Given the description of an element on the screen output the (x, y) to click on. 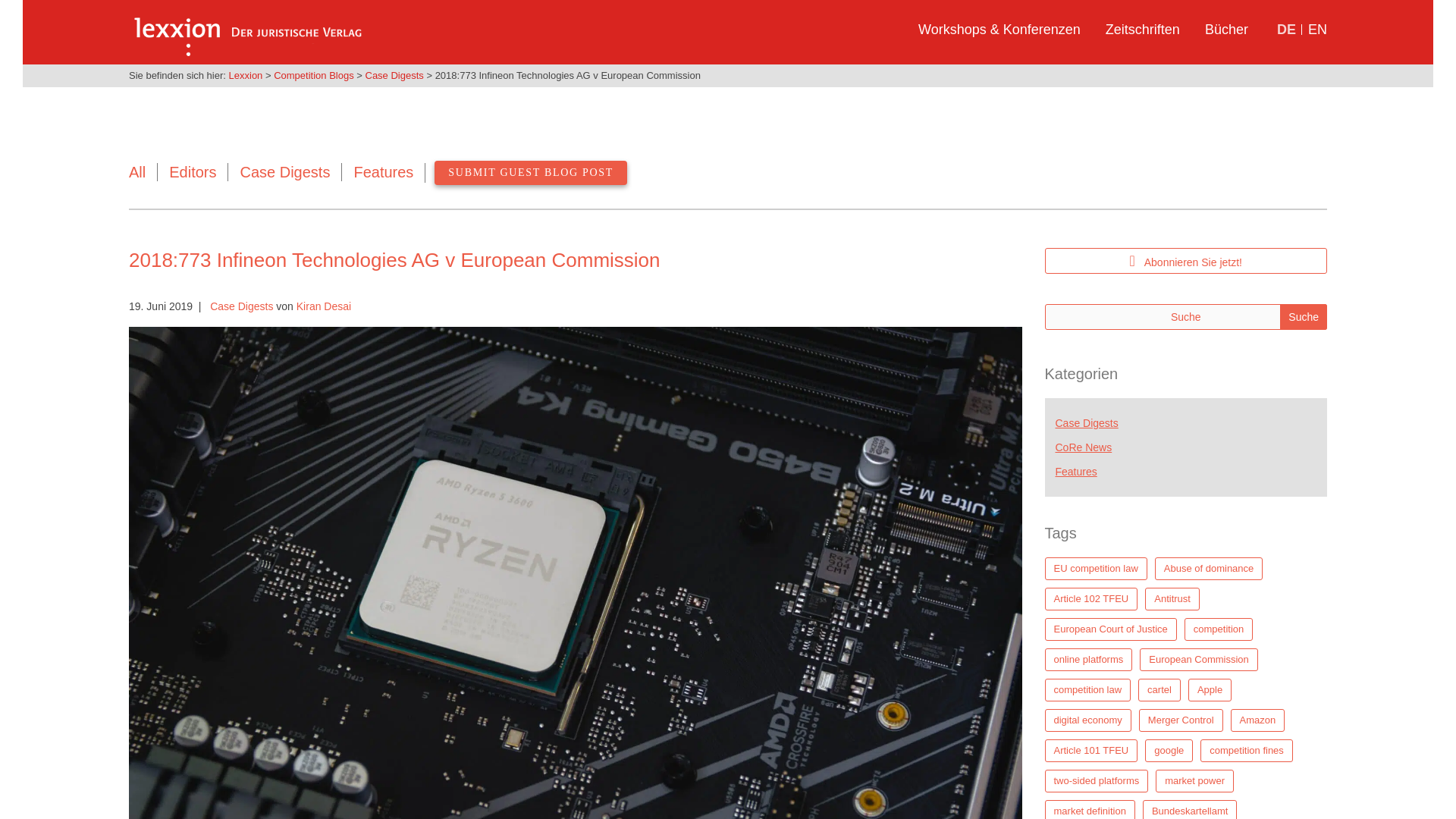
Zeitschriften (1142, 34)
SUBMIT GUEST BLOG POST (530, 172)
Case Digests (285, 171)
Suche (1302, 316)
Case Digests (241, 306)
Lexxion (246, 29)
Features (383, 171)
Zeitschriften (1142, 34)
Lexxion (245, 75)
Competition Blogs (313, 75)
Editors (191, 171)
 EN (1313, 34)
Go to Lexxion. (245, 75)
All (137, 171)
Suche (1302, 316)
